Given the description of an element on the screen output the (x, y) to click on. 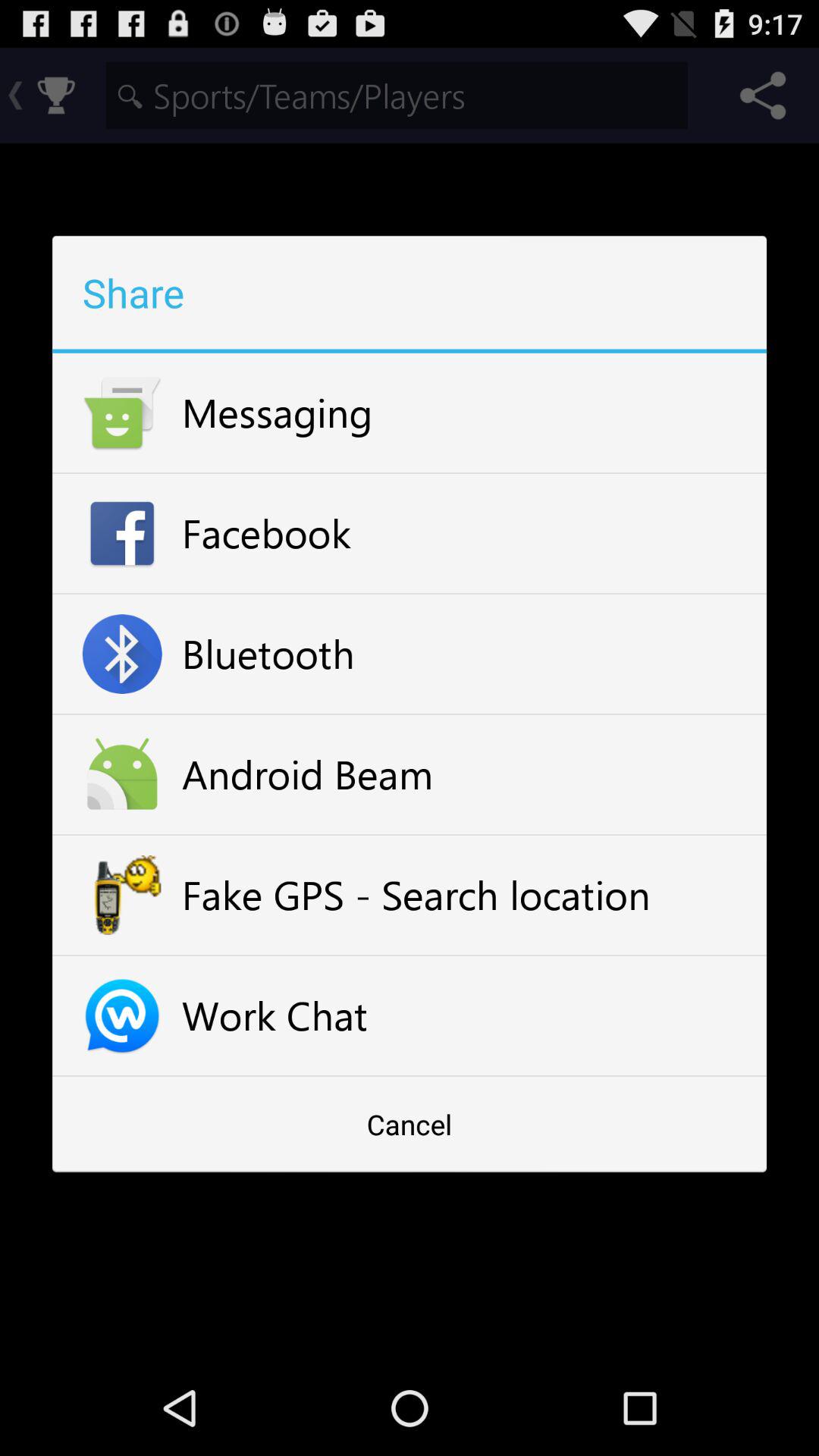
turn on the cancel item (409, 1124)
